Given the description of an element on the screen output the (x, y) to click on. 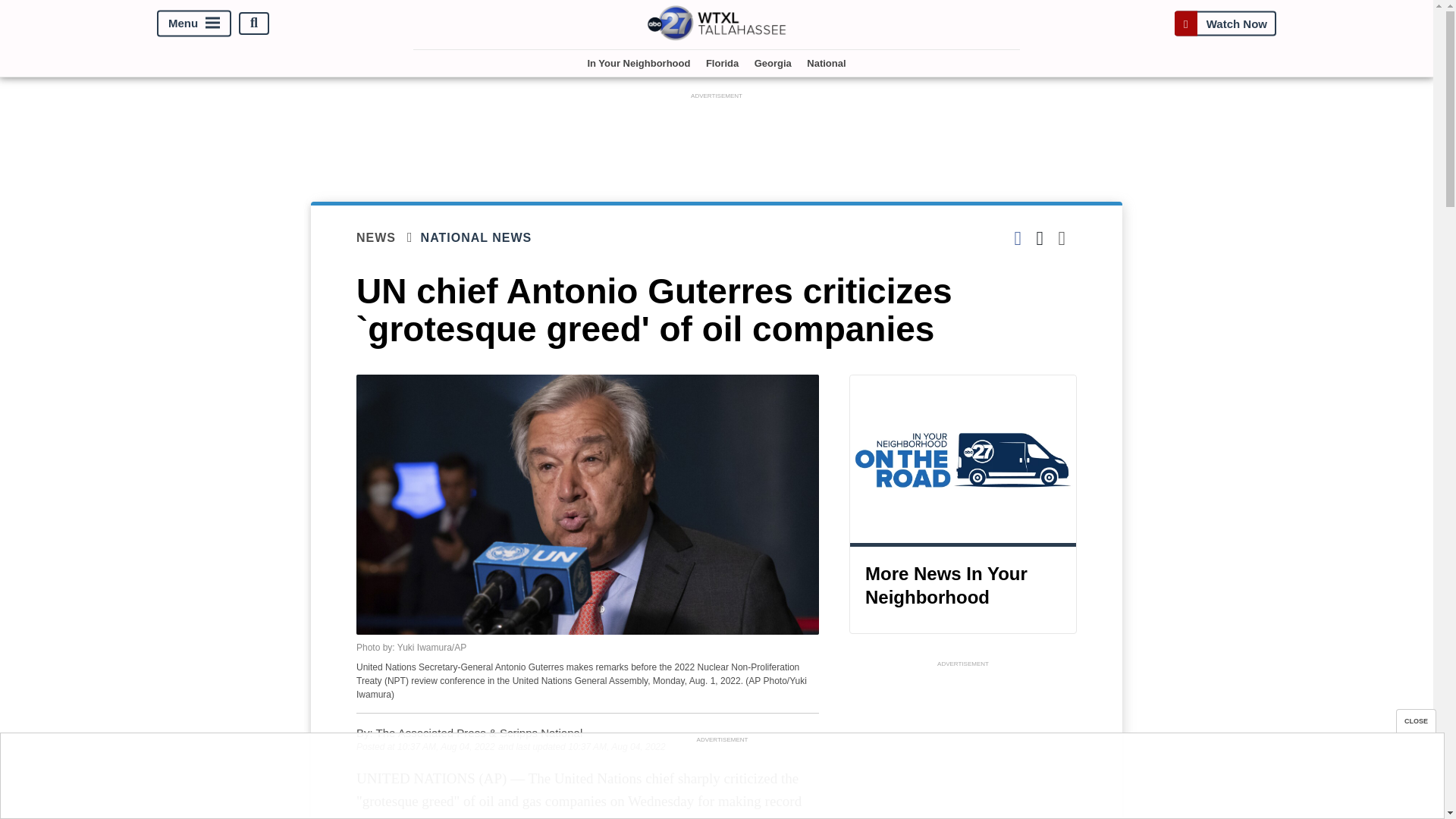
3rd party ad content (716, 137)
Menu (194, 22)
3rd party ad content (721, 780)
Watch Now (1224, 22)
3rd party ad content (962, 744)
